Given the description of an element on the screen output the (x, y) to click on. 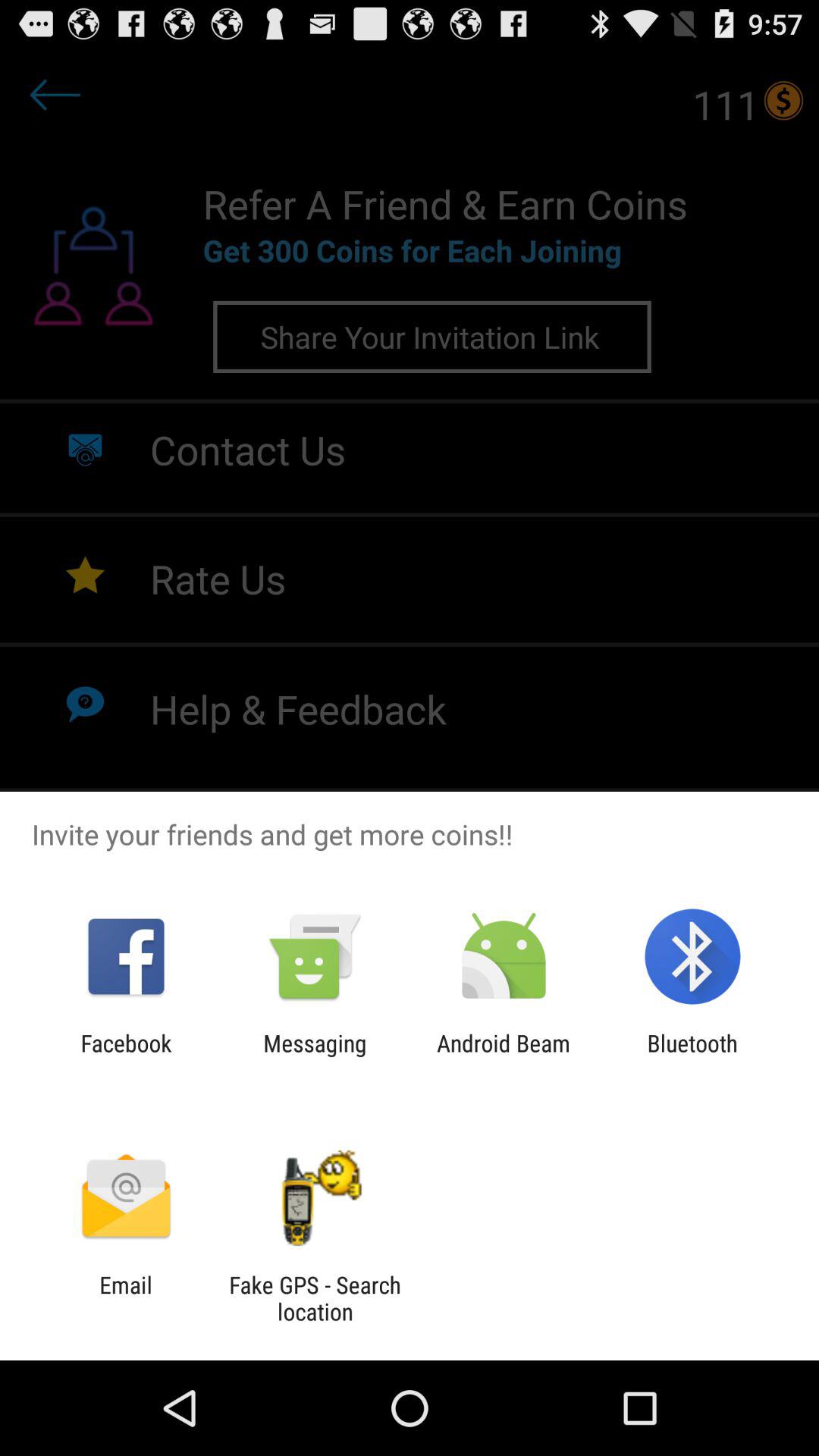
turn off item at the bottom right corner (692, 1056)
